Given the description of an element on the screen output the (x, y) to click on. 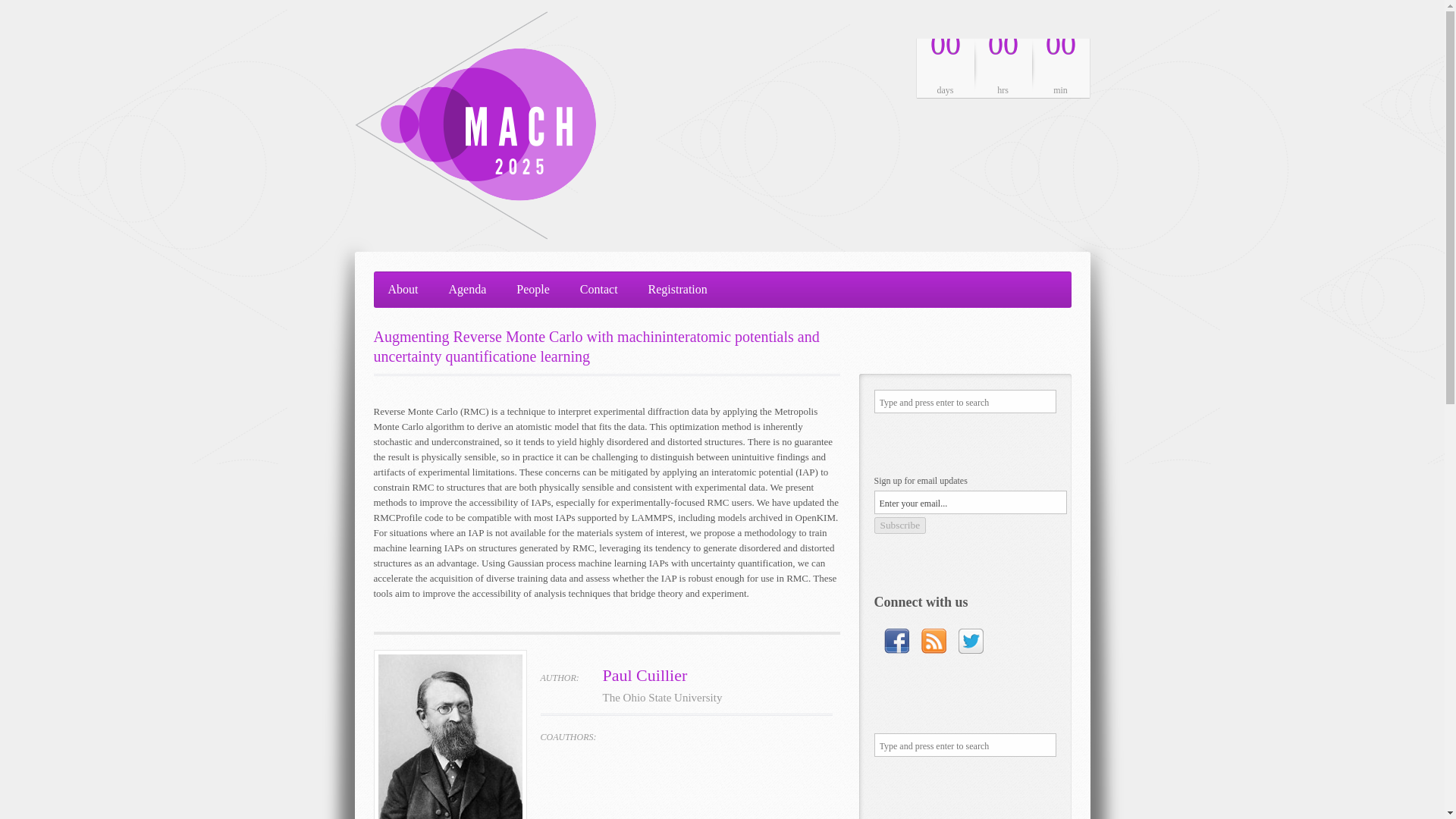
About (402, 289)
Subscribe (899, 524)
Agenda (466, 289)
Contact (598, 289)
Registration (678, 289)
People (532, 289)
Enter your email... (969, 502)
